Given the description of an element on the screen output the (x, y) to click on. 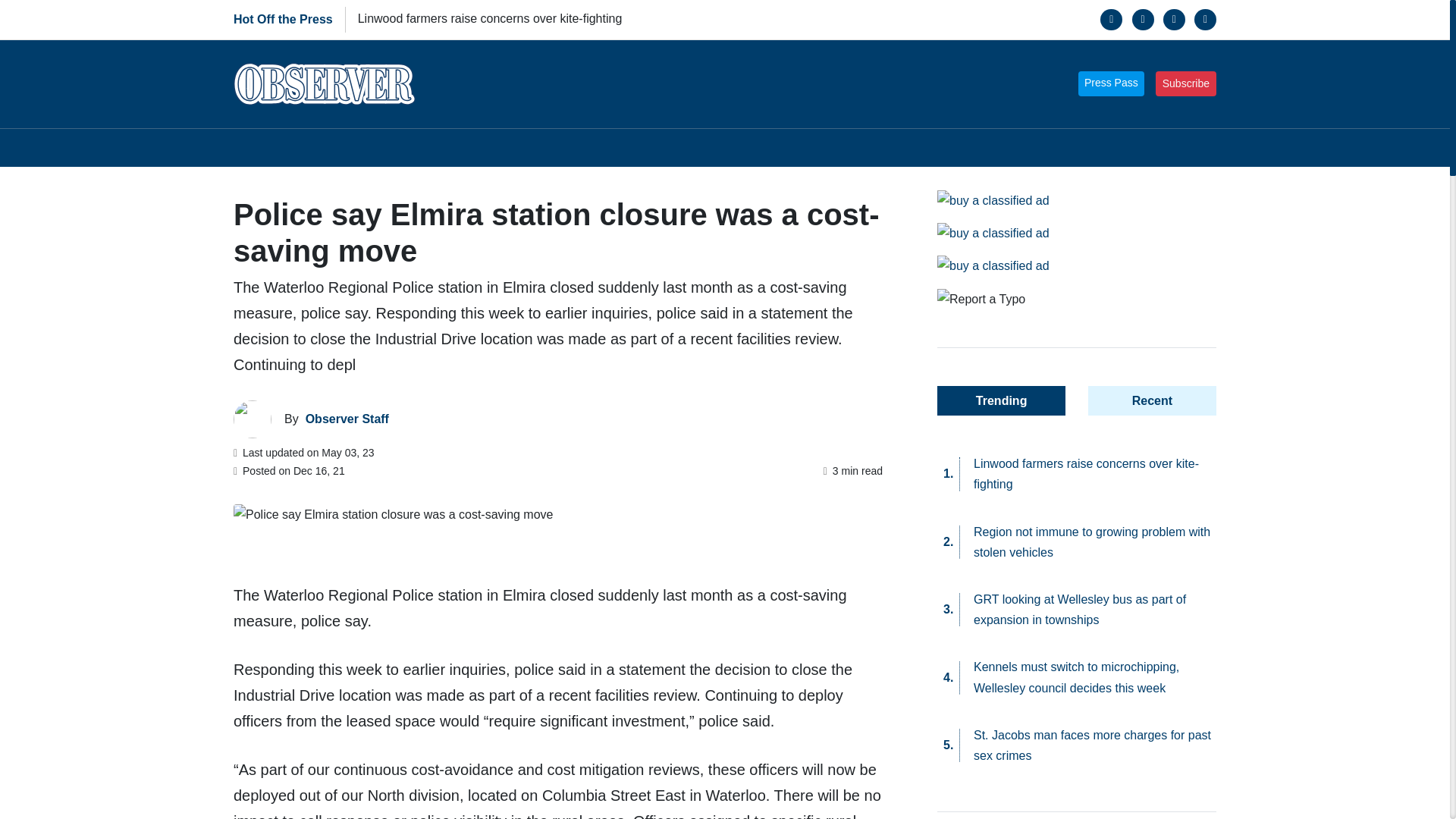
Linwood farmers raise concerns over kite-fighting (490, 18)
Subscribe (1185, 84)
Press Pass (1111, 84)
